Given the description of an element on the screen output the (x, y) to click on. 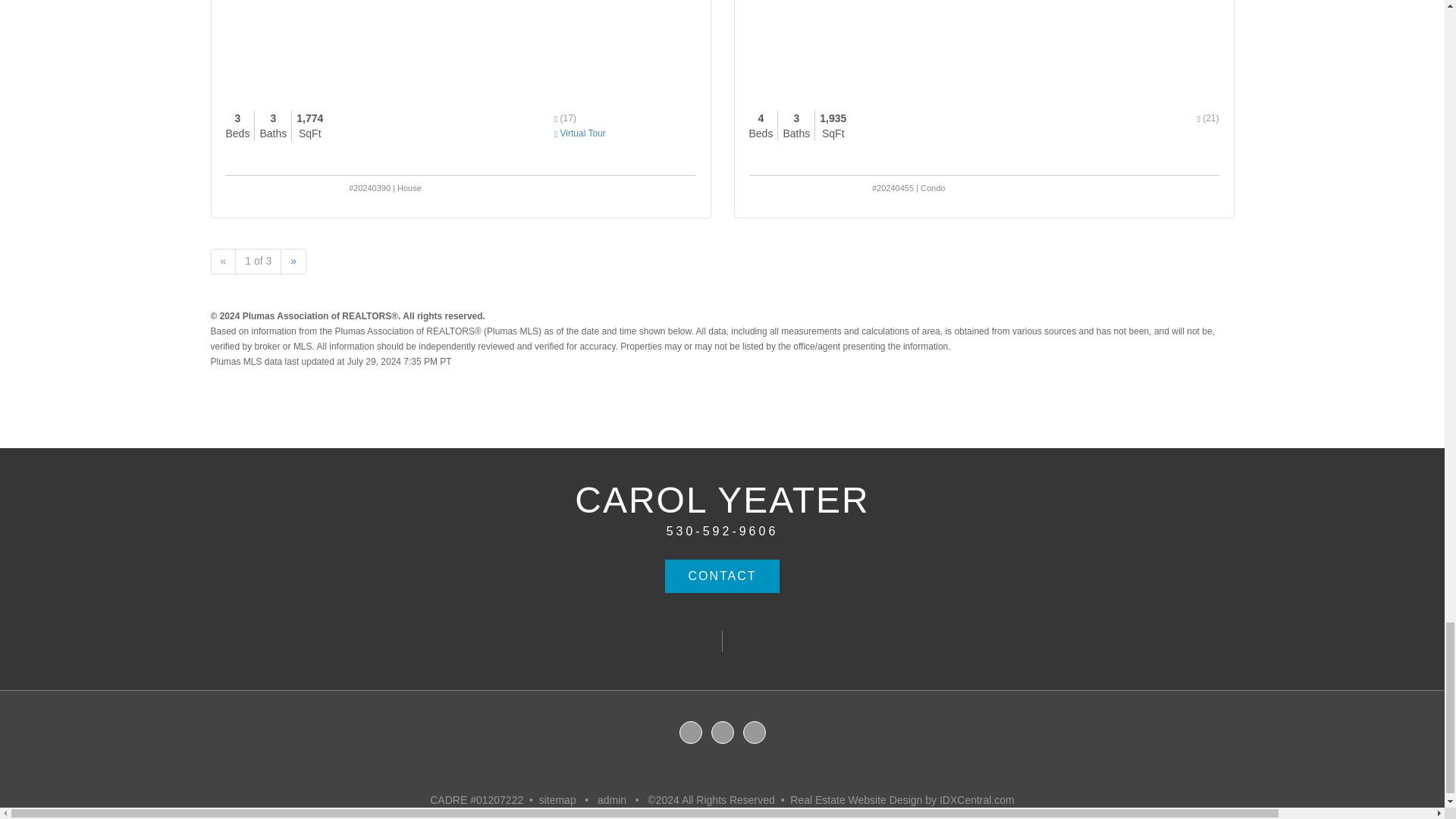
Real Estate Website Design (855, 799)
Facebook (722, 732)
Email (690, 732)
Instagram (754, 732)
